Given the description of an element on the screen output the (x, y) to click on. 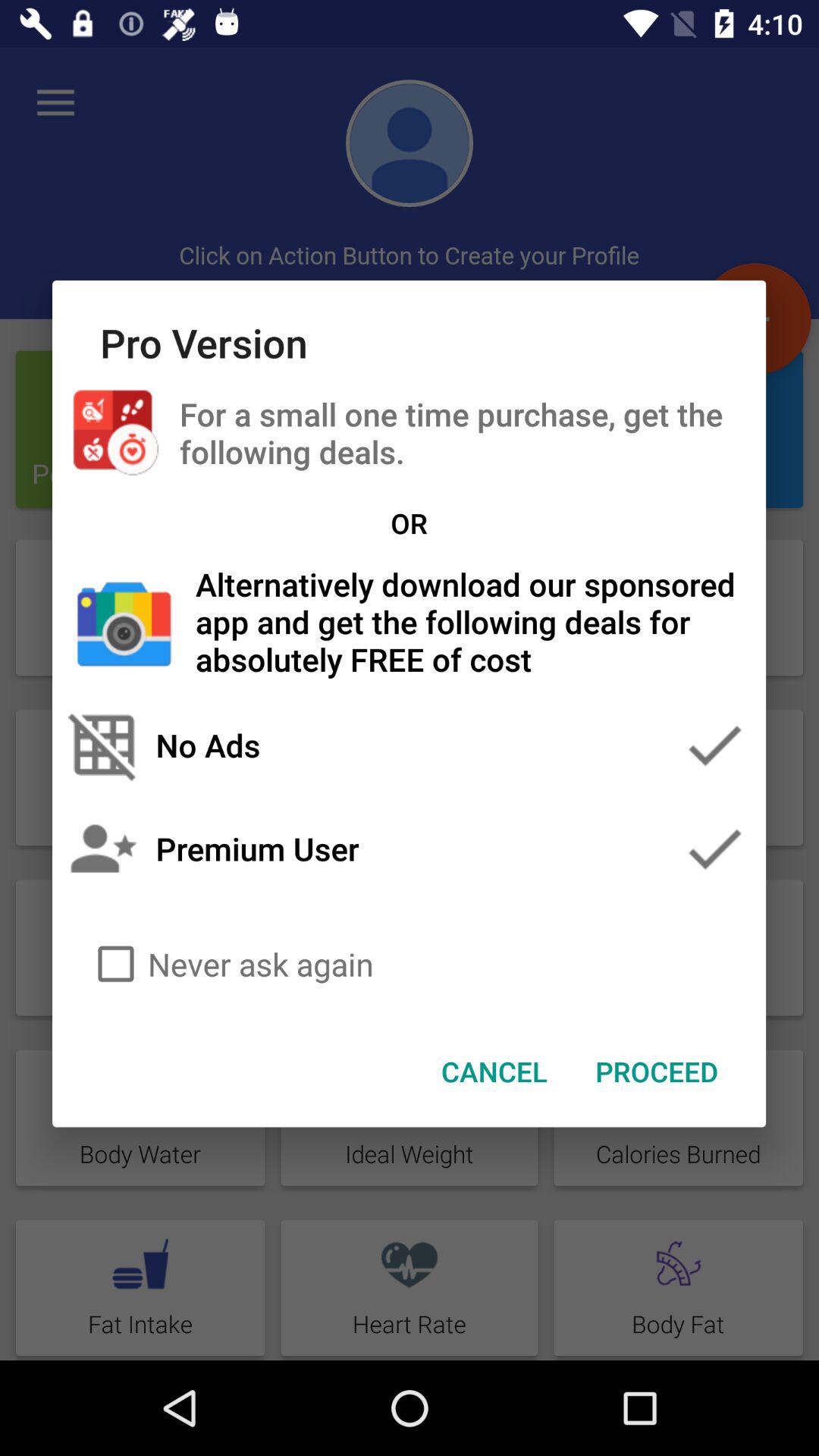
press the never ask again (409, 963)
